Given the description of an element on the screen output the (x, y) to click on. 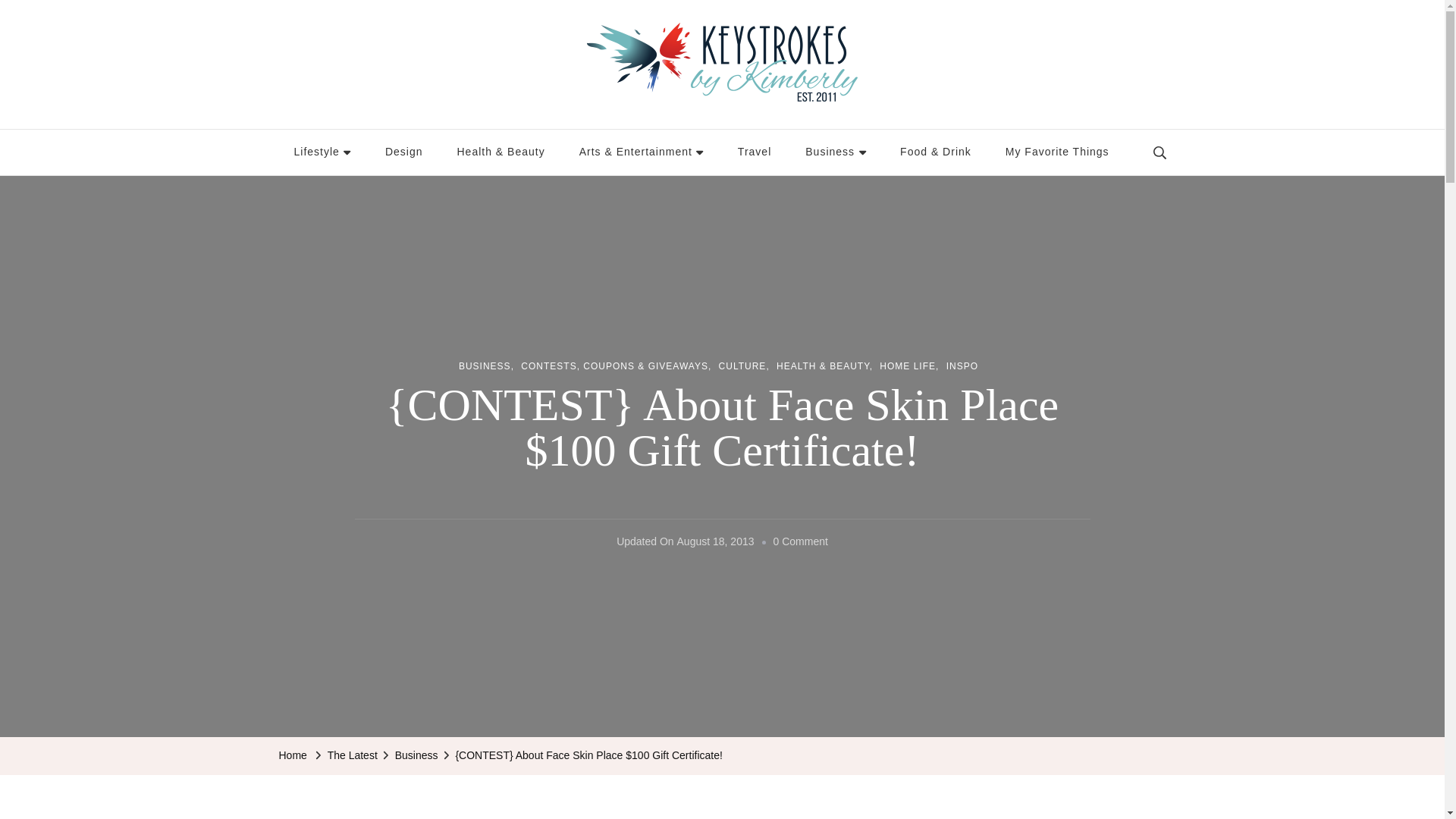
Travel (754, 152)
Keystrokes By Kimberly (409, 116)
ace your space (403, 152)
CULTURE (744, 366)
BUSINESS (485, 366)
wanderlust (754, 152)
Design (403, 152)
the buzz (835, 152)
inside-outisde (500, 152)
joie de vie (322, 152)
